Given the description of an element on the screen output the (x, y) to click on. 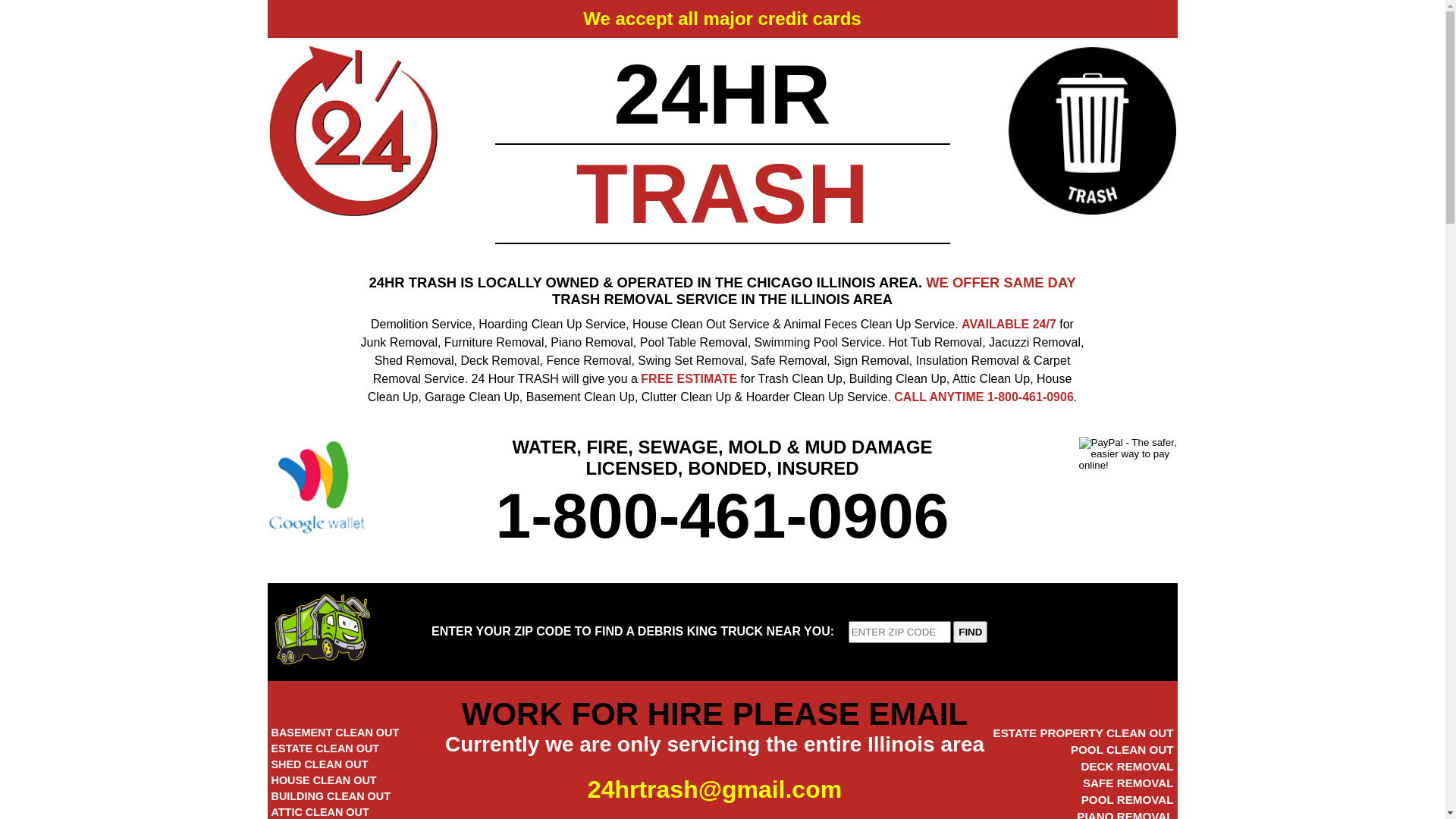
24HR Element type: text (721, 94)
TRASH Element type: text (722, 193)
FIND Element type: text (970, 632)
